Given the description of an element on the screen output the (x, y) to click on. 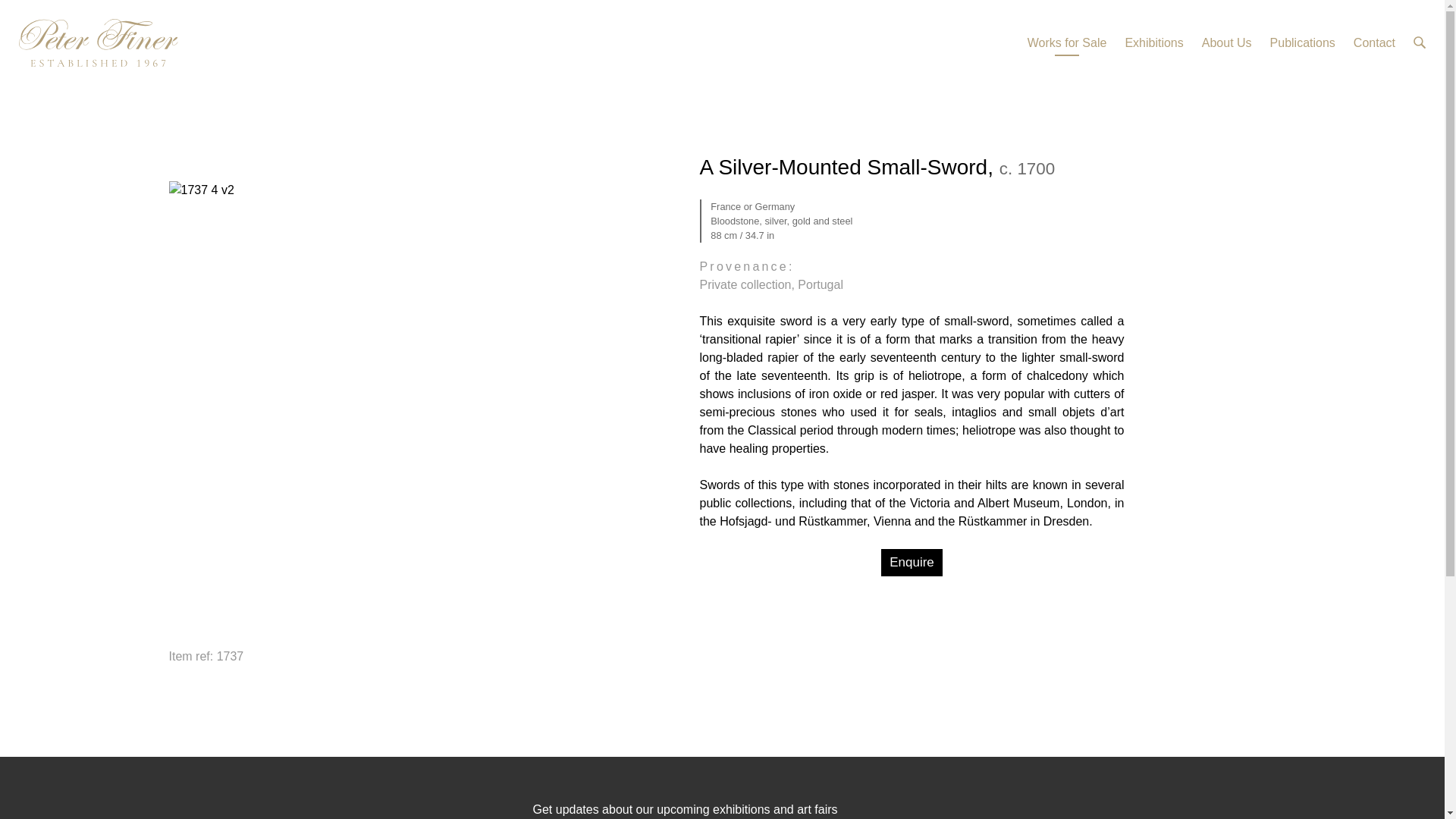
Contact (1374, 43)
Publications (1302, 43)
Works for Sale (1066, 43)
About Us (1227, 43)
Exhibitions (1153, 43)
Enquire (911, 562)
